Given the description of an element on the screen output the (x, y) to click on. 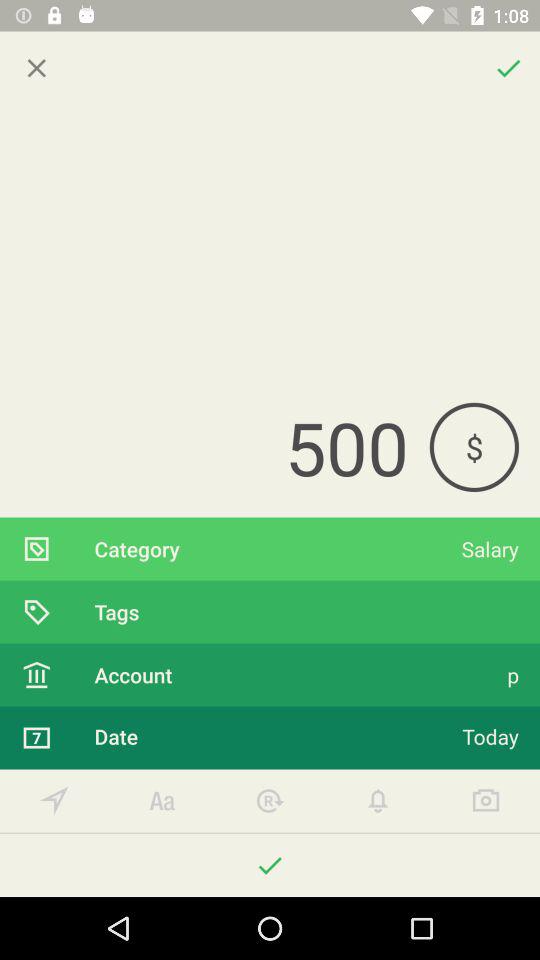
toggle screen rotation lock (270, 800)
